Given the description of an element on the screen output the (x, y) to click on. 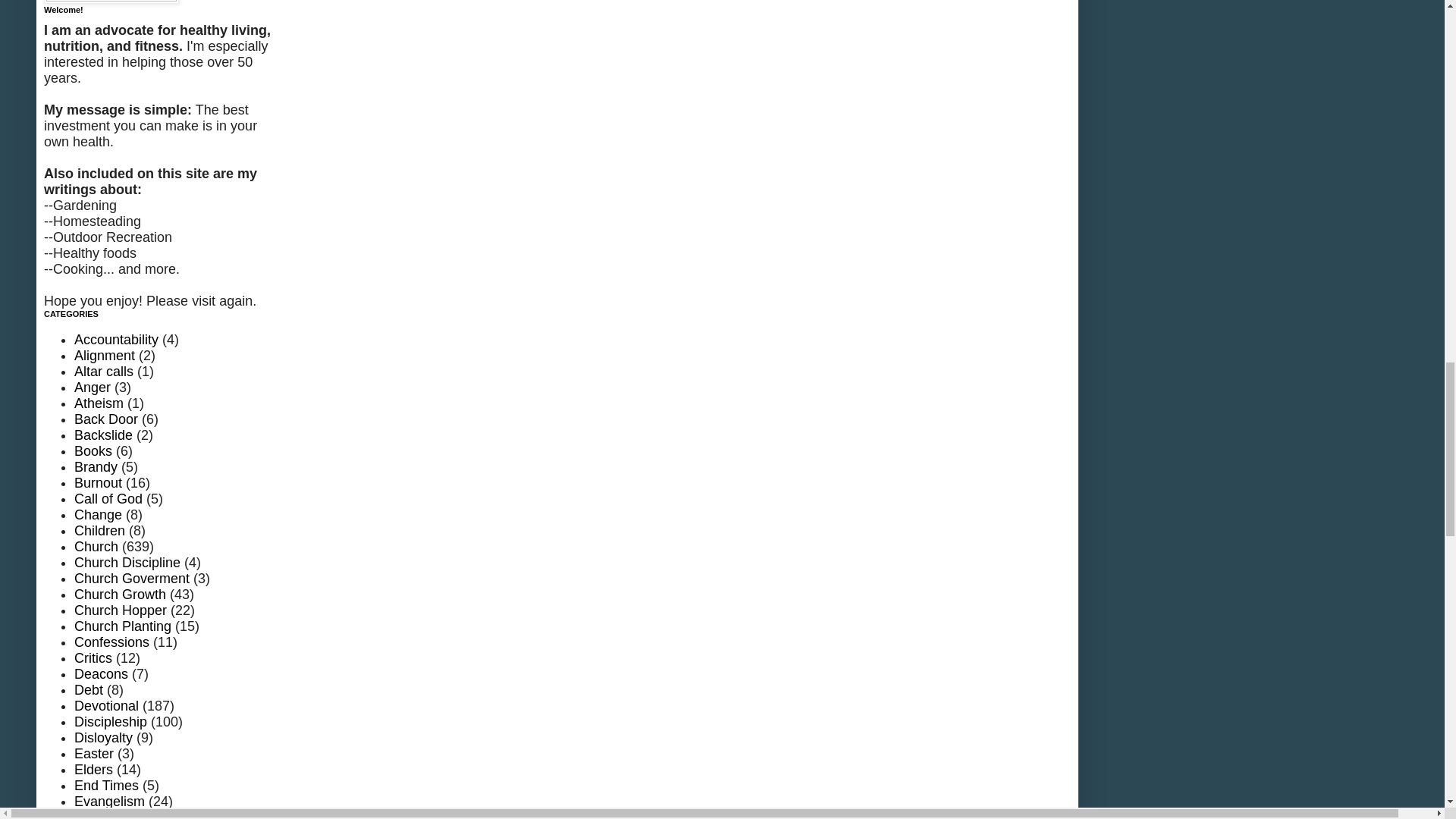
Church Hopper (120, 610)
Back Door (106, 418)
Accountability (116, 339)
Altar calls (103, 371)
Critics (93, 657)
Church Growth (119, 594)
Brandy (95, 467)
Children (99, 530)
Change (98, 514)
Anger (92, 387)
Books (93, 450)
Deacons (101, 673)
Atheism (98, 403)
Burnout (98, 482)
Church Planting (122, 626)
